Given the description of an element on the screen output the (x, y) to click on. 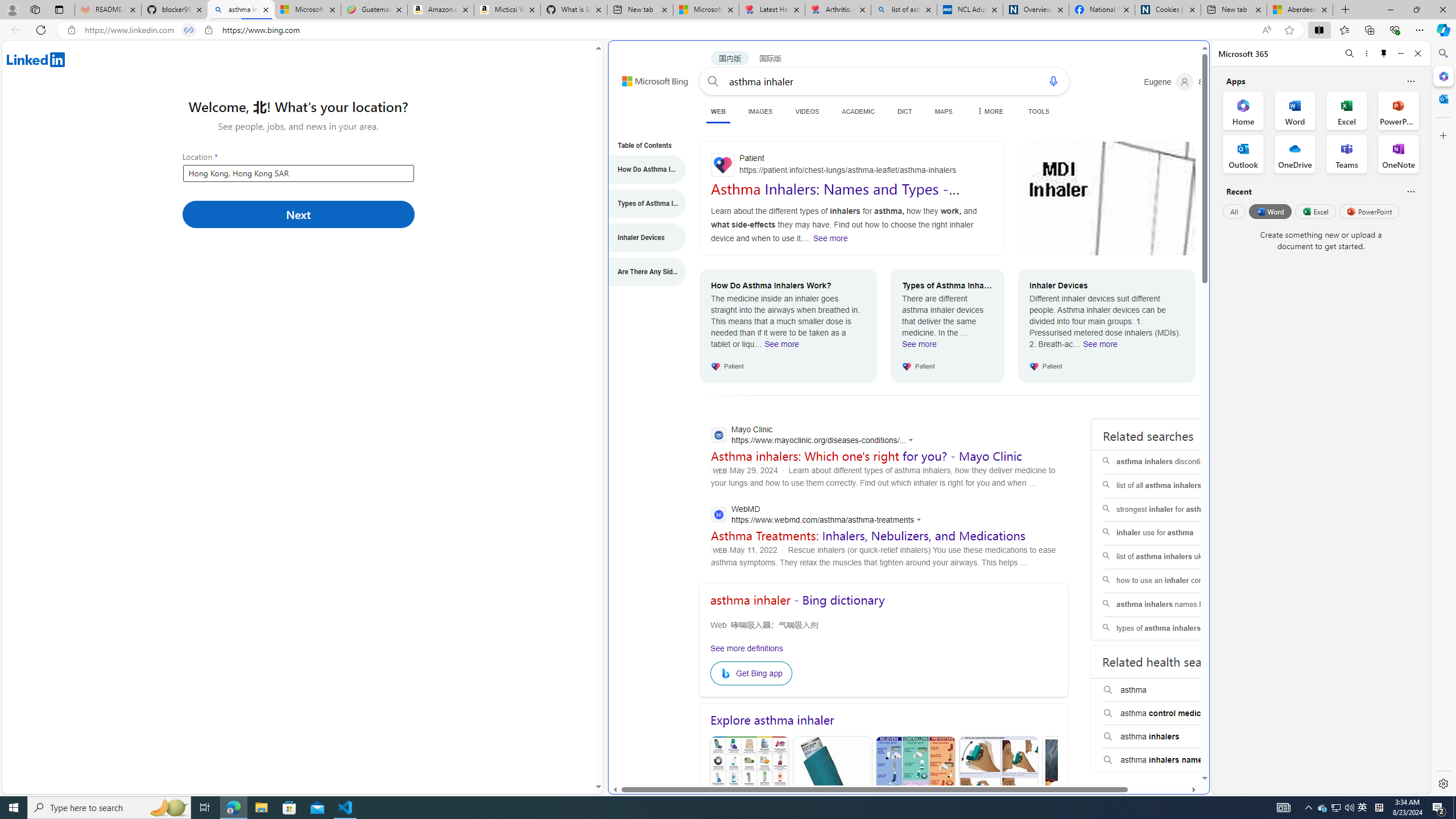
types of asthma inhalers pictures (1174, 628)
See more definitions (746, 647)
Dropdown Menu (988, 111)
DICT (904, 111)
types of asthma inhalers pictures (1174, 628)
Tabs in split screen (189, 29)
OneDrive Office App (1295, 154)
